Given the description of an element on the screen output the (x, y) to click on. 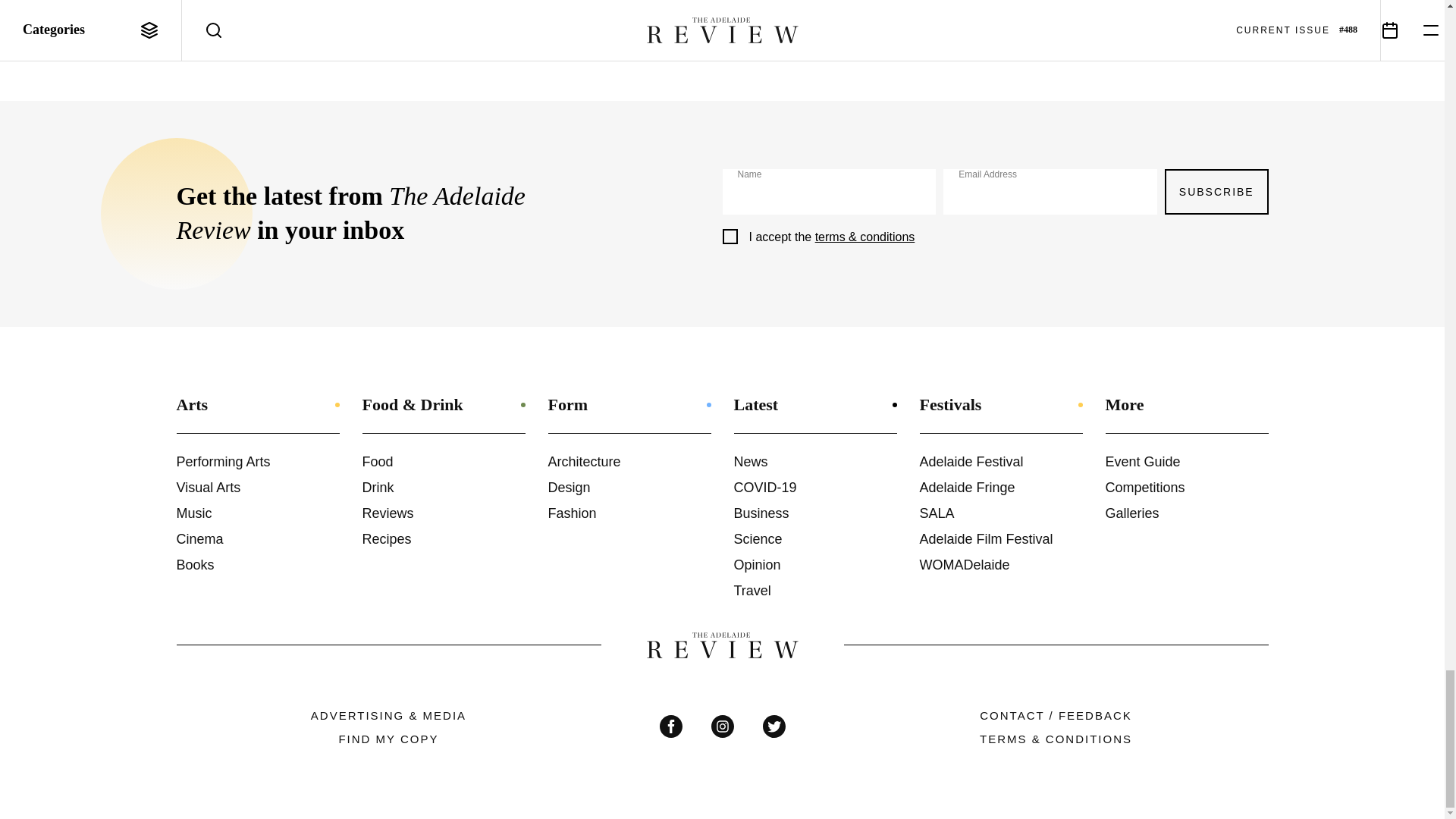
Facebook (670, 726)
Twitter (773, 726)
Instagram (721, 726)
